Given the description of an element on the screen output the (x, y) to click on. 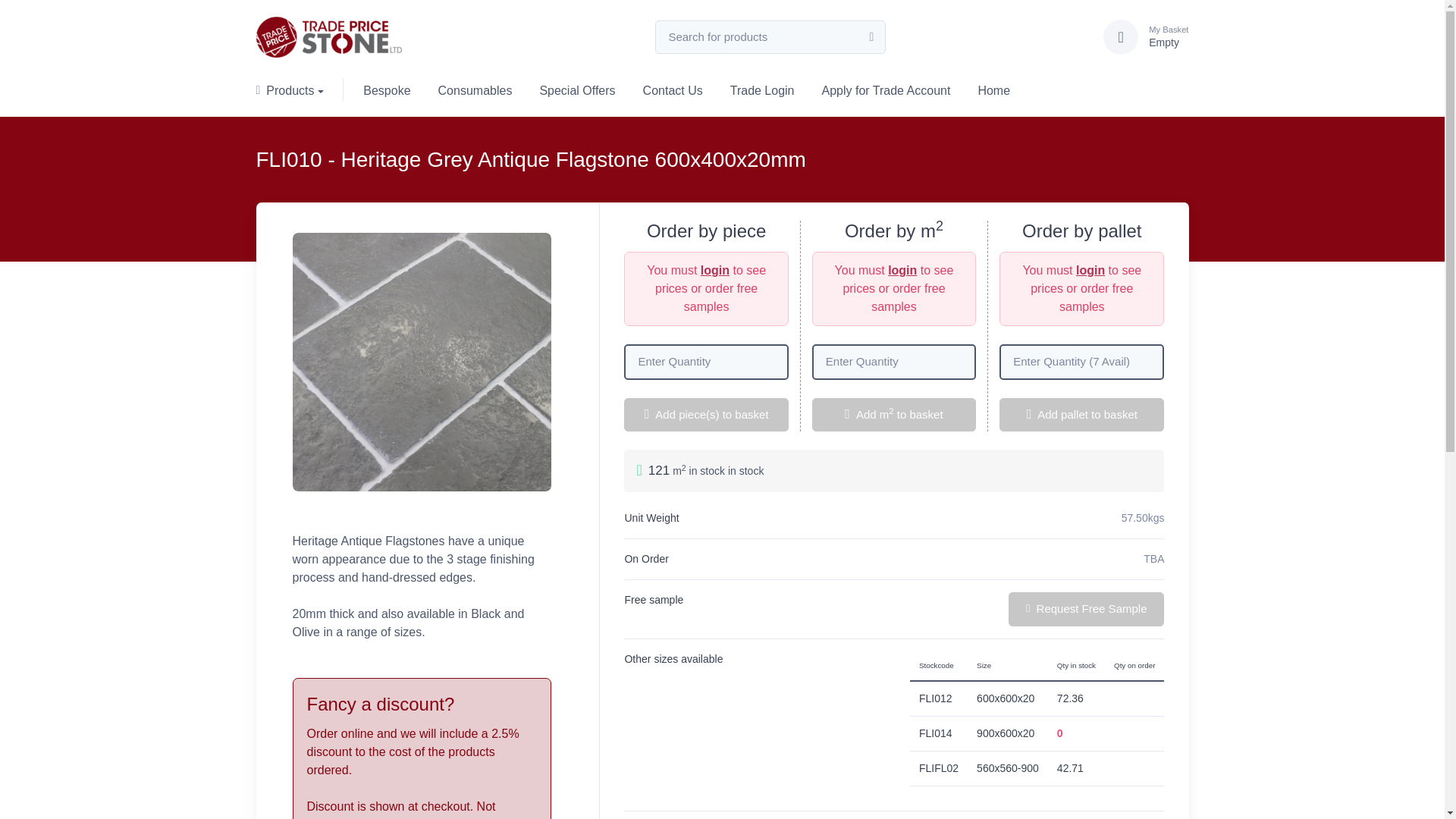
login (714, 269)
login (902, 269)
Consumables (475, 88)
Shopping Basket (1120, 36)
Products (296, 88)
Trade Login (762, 88)
Shopping Basket (1163, 36)
Apply for Trade Account (885, 88)
Home (993, 88)
Add m2 to basket (893, 415)
